Given the description of an element on the screen output the (x, y) to click on. 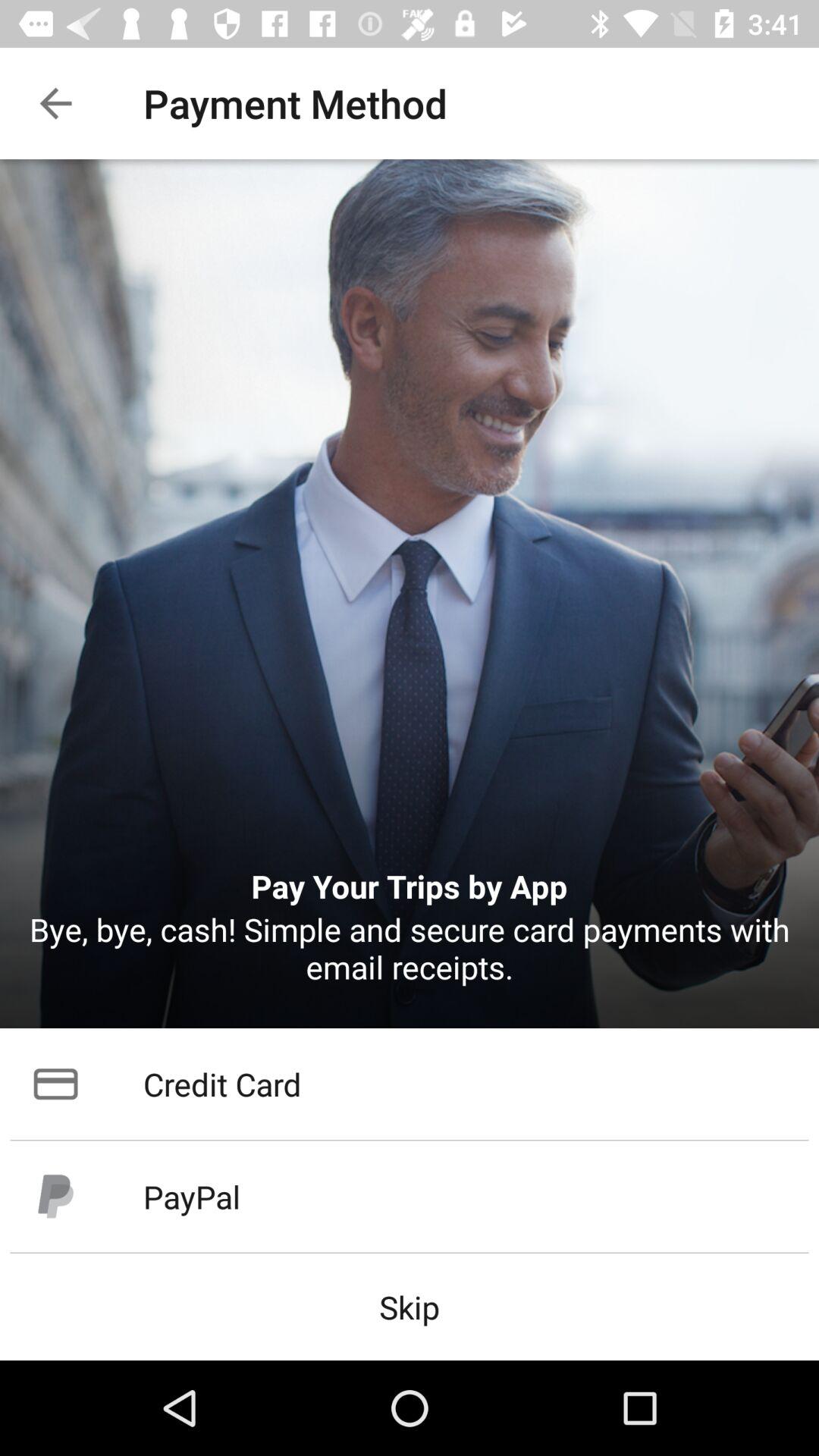
open credit card (409, 1083)
